Given the description of an element on the screen output the (x, y) to click on. 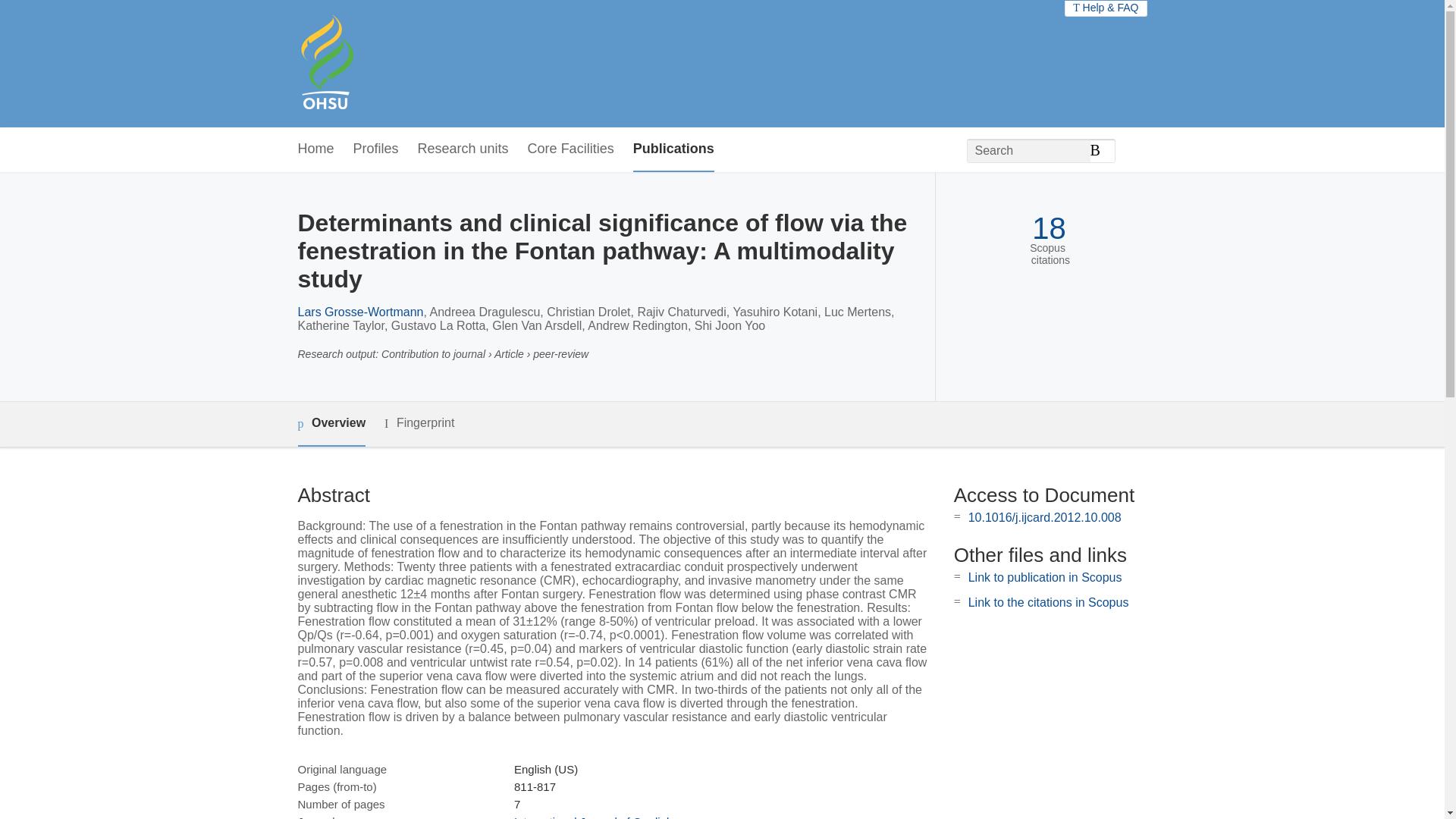
Overview (331, 424)
Profiles (375, 149)
Publications (673, 149)
Core Facilities (570, 149)
Research units (462, 149)
Lars Grosse-Wortmann (360, 311)
Link to publication in Scopus (1045, 576)
Fingerprint (419, 423)
18 (1048, 228)
